Given the description of an element on the screen output the (x, y) to click on. 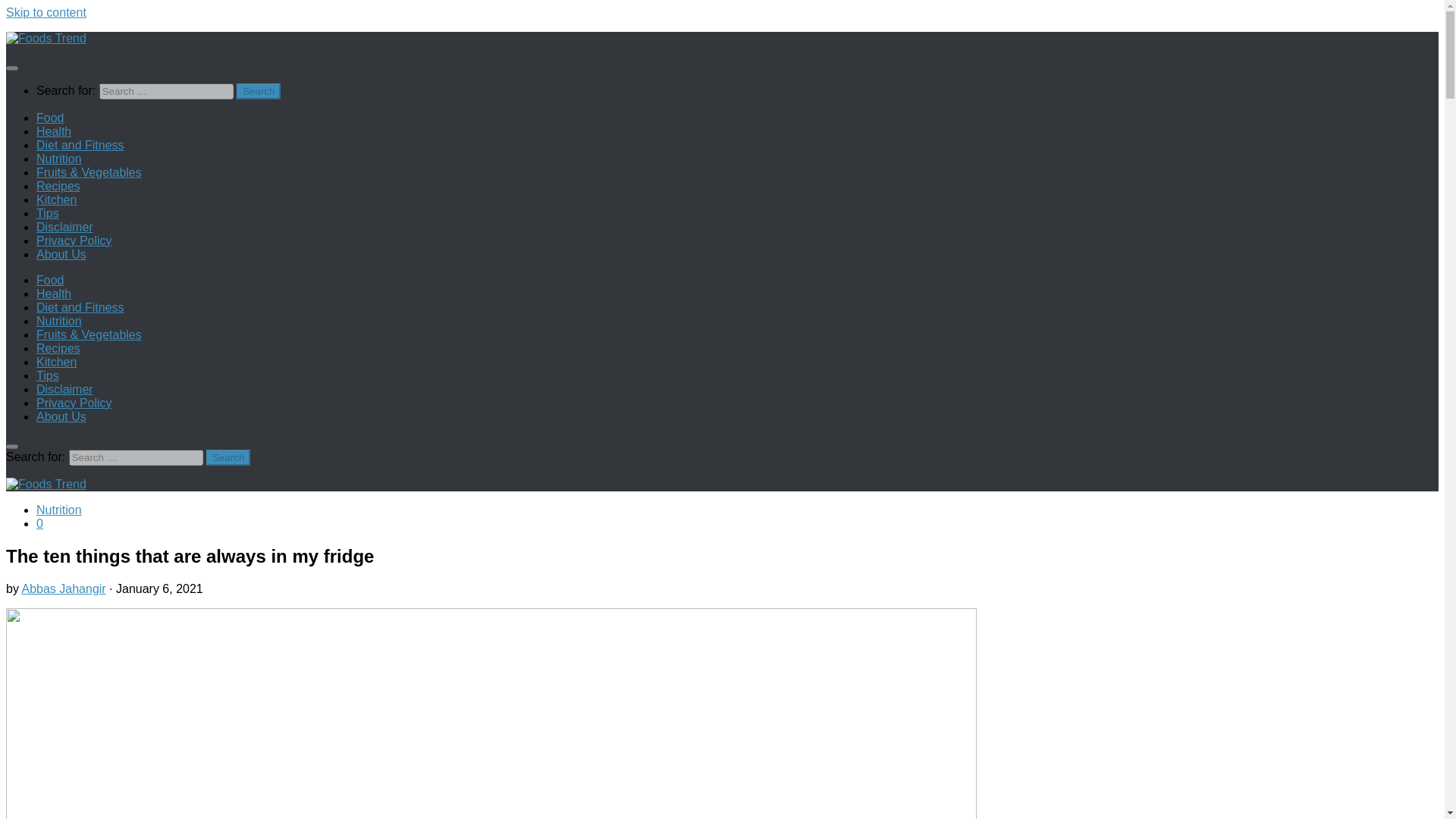
About Us (60, 254)
Diet and Fitness (79, 307)
Diet and Fitness (79, 144)
Privacy Policy (74, 240)
Posts by Abbas Jahangir (62, 588)
Health (53, 293)
Tips (47, 213)
Search (258, 91)
Search (258, 91)
About Us (60, 416)
